Given the description of an element on the screen output the (x, y) to click on. 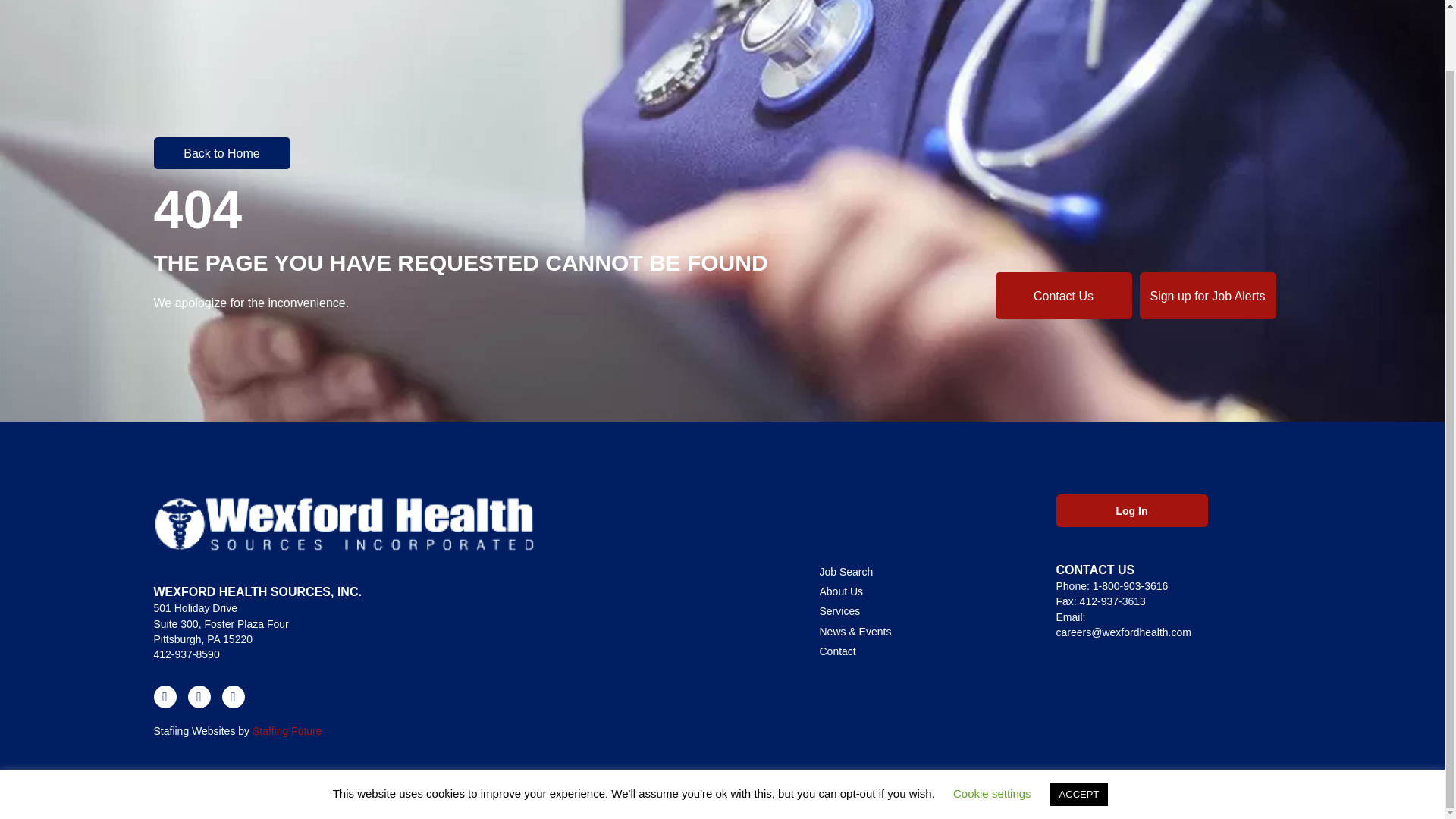
Instagram (232, 696)
ACCEPT (1078, 728)
Sign up for Job Alerts (1206, 295)
Job Search (921, 571)
Services (921, 610)
Log In (1131, 510)
Contact Us (1062, 295)
Cookie settings (991, 727)
Staffing Future (286, 730)
Contact (921, 650)
1-800-903-3616 (1131, 585)
About Us (921, 591)
Back to Home (220, 152)
